Given the description of an element on the screen output the (x, y) to click on. 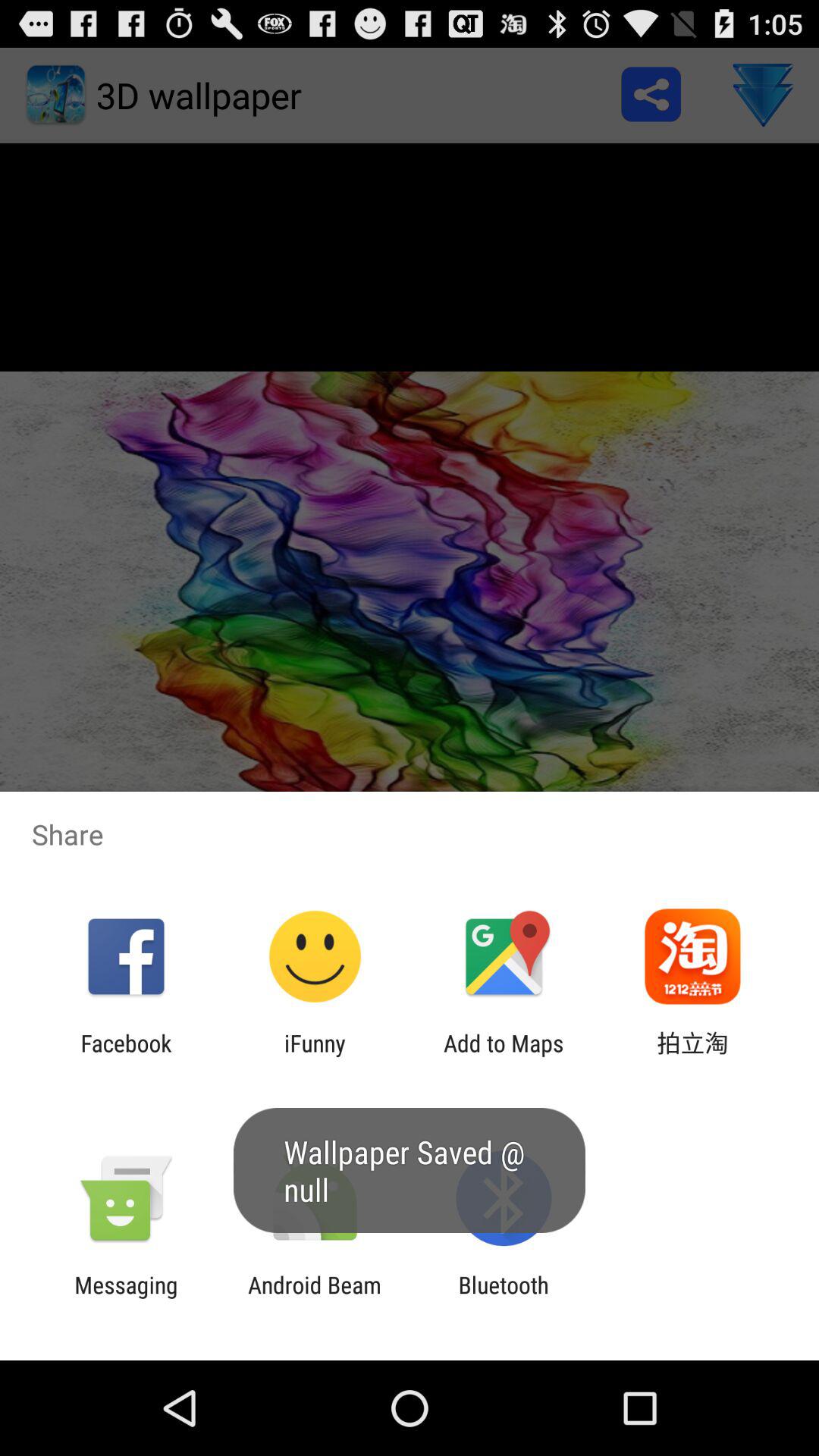
flip until android beam item (314, 1298)
